Given the description of an element on the screen output the (x, y) to click on. 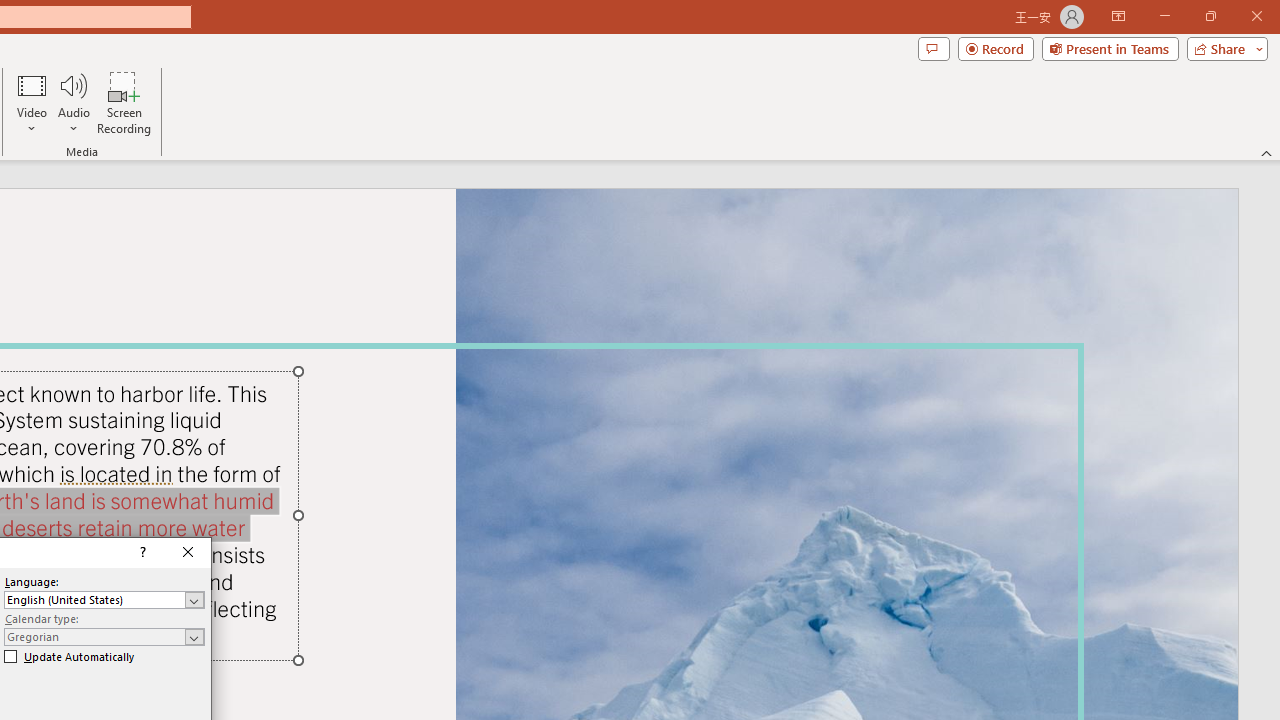
Update Automatically (69, 656)
Language (103, 600)
Context help (141, 552)
Screen Recording... (123, 102)
Calendar type (103, 636)
Audio (73, 102)
Video (31, 102)
